Given the description of an element on the screen output the (x, y) to click on. 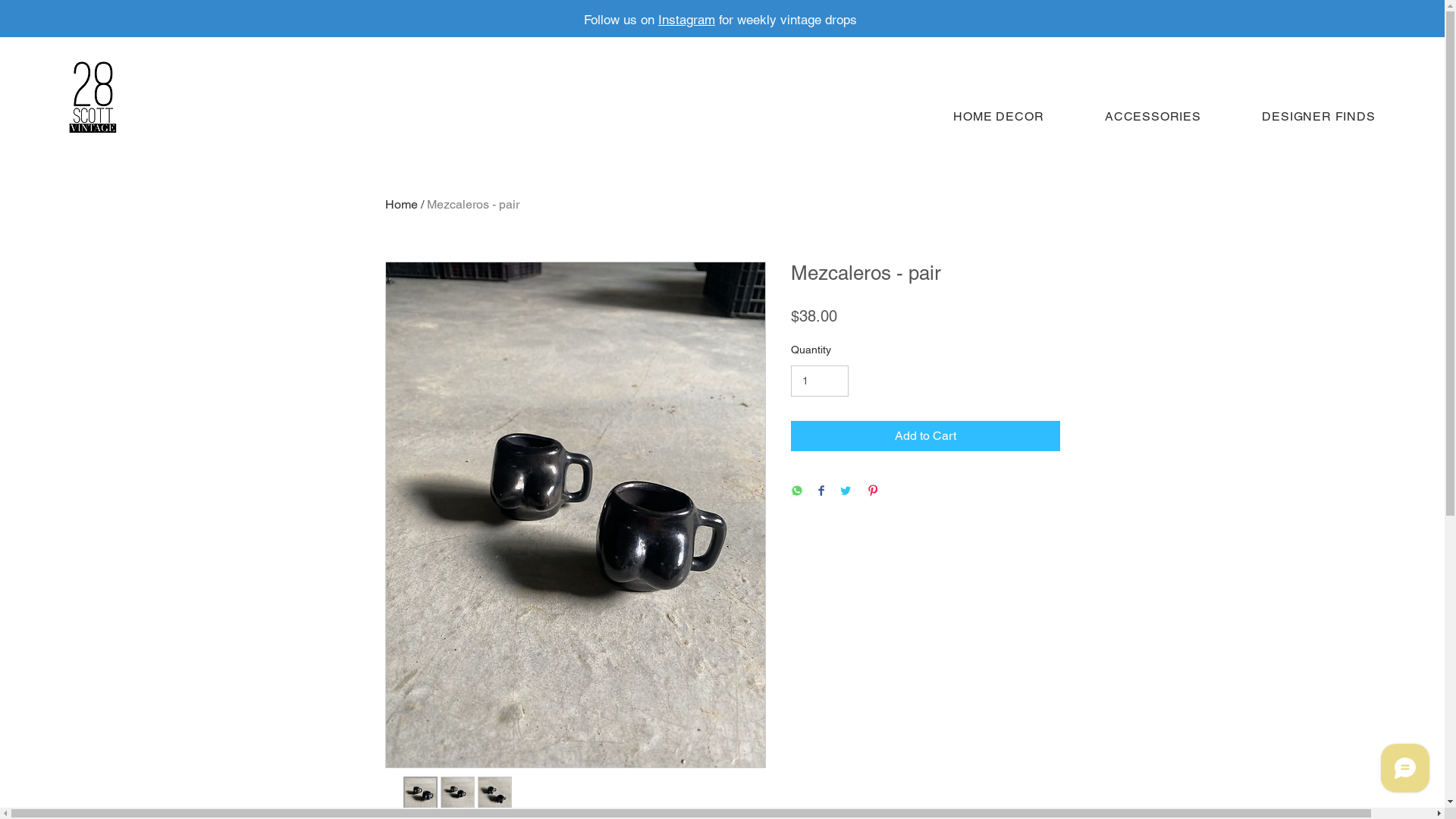
ACCESSORIES Element type: text (1152, 116)
Add to Cart Element type: text (924, 435)
Wix Chat Element type: hover (1408, 771)
HOME DECOR Element type: text (998, 116)
DESIGNER FINDS Element type: text (1318, 116)
Instagram Element type: text (686, 19)
Mezcaleros - pair Element type: text (472, 204)
Home Element type: text (401, 204)
